Given the description of an element on the screen output the (x, y) to click on. 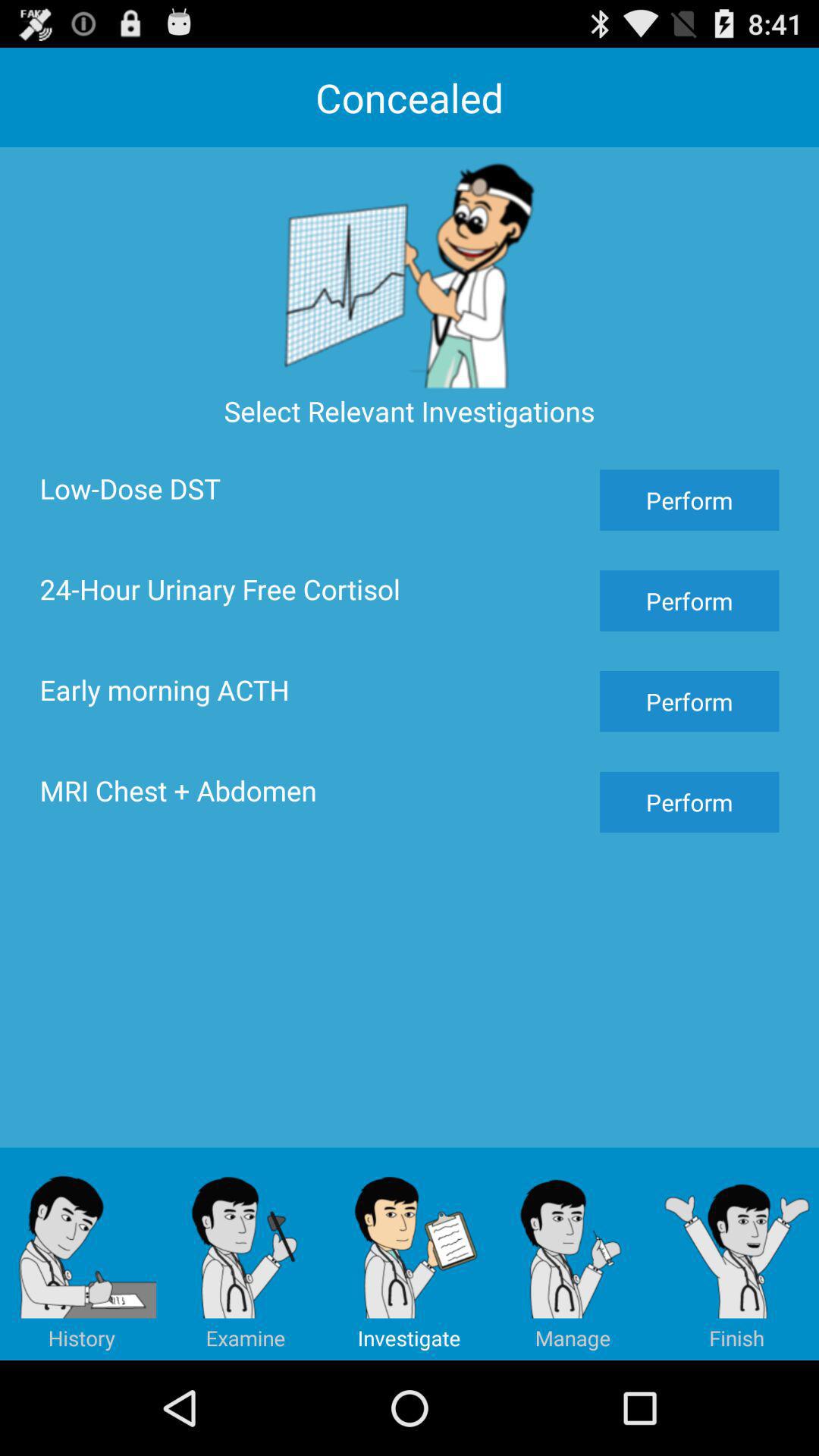
turn off item below mri chest + abdomen item (573, 1253)
